Given the description of an element on the screen output the (x, y) to click on. 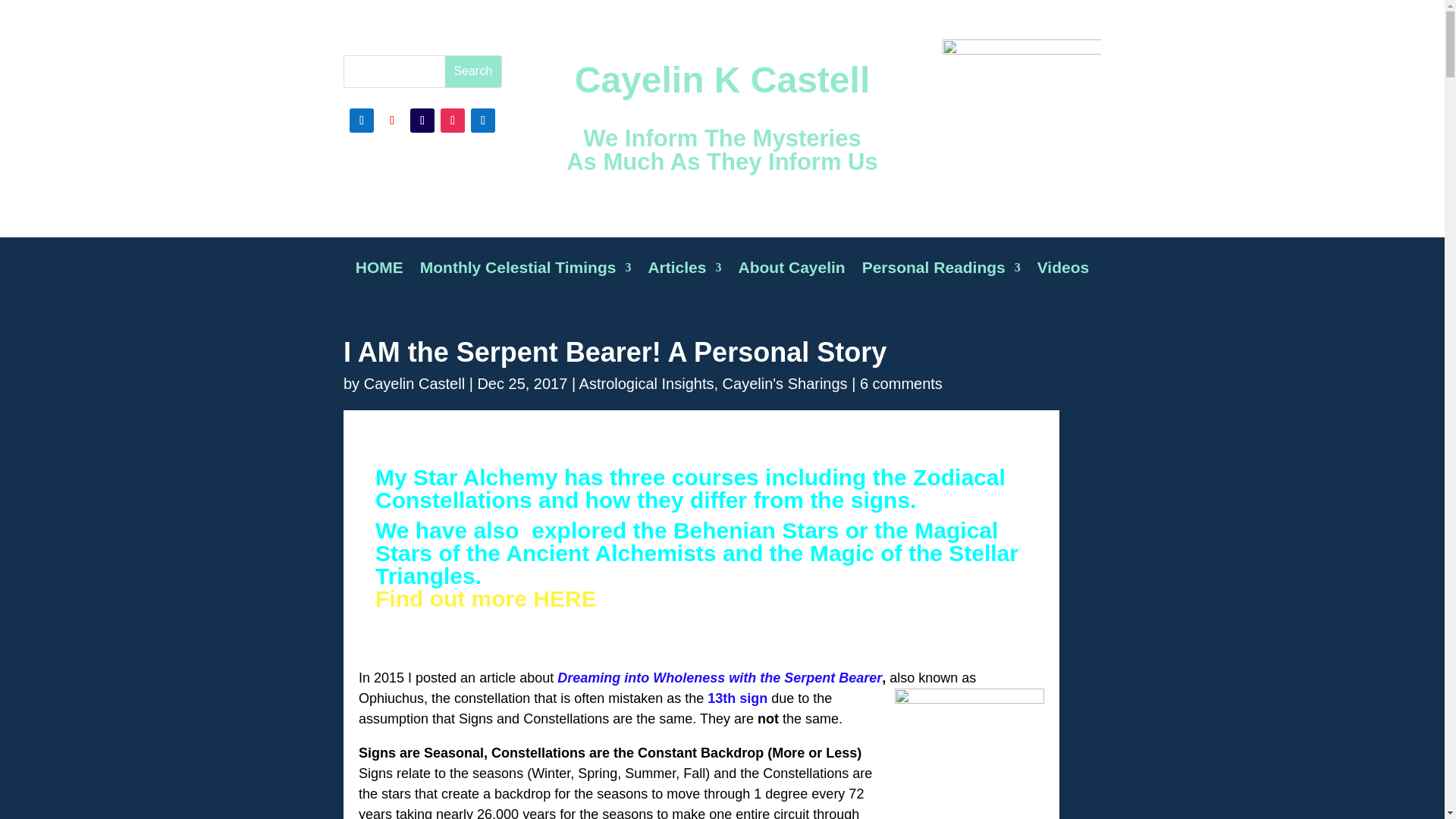
Monthly Celestial Timings (525, 278)
Search (472, 71)
Videos (1062, 278)
Posts by Cayelin Castell (414, 382)
Cayelin's Sharings (784, 382)
Personal Readings (940, 278)
Search (472, 71)
HOME (379, 278)
Astrological Insights (646, 382)
Dreaming into Wholeness with the Serpent Bearer (719, 677)
